Given the description of an element on the screen output the (x, y) to click on. 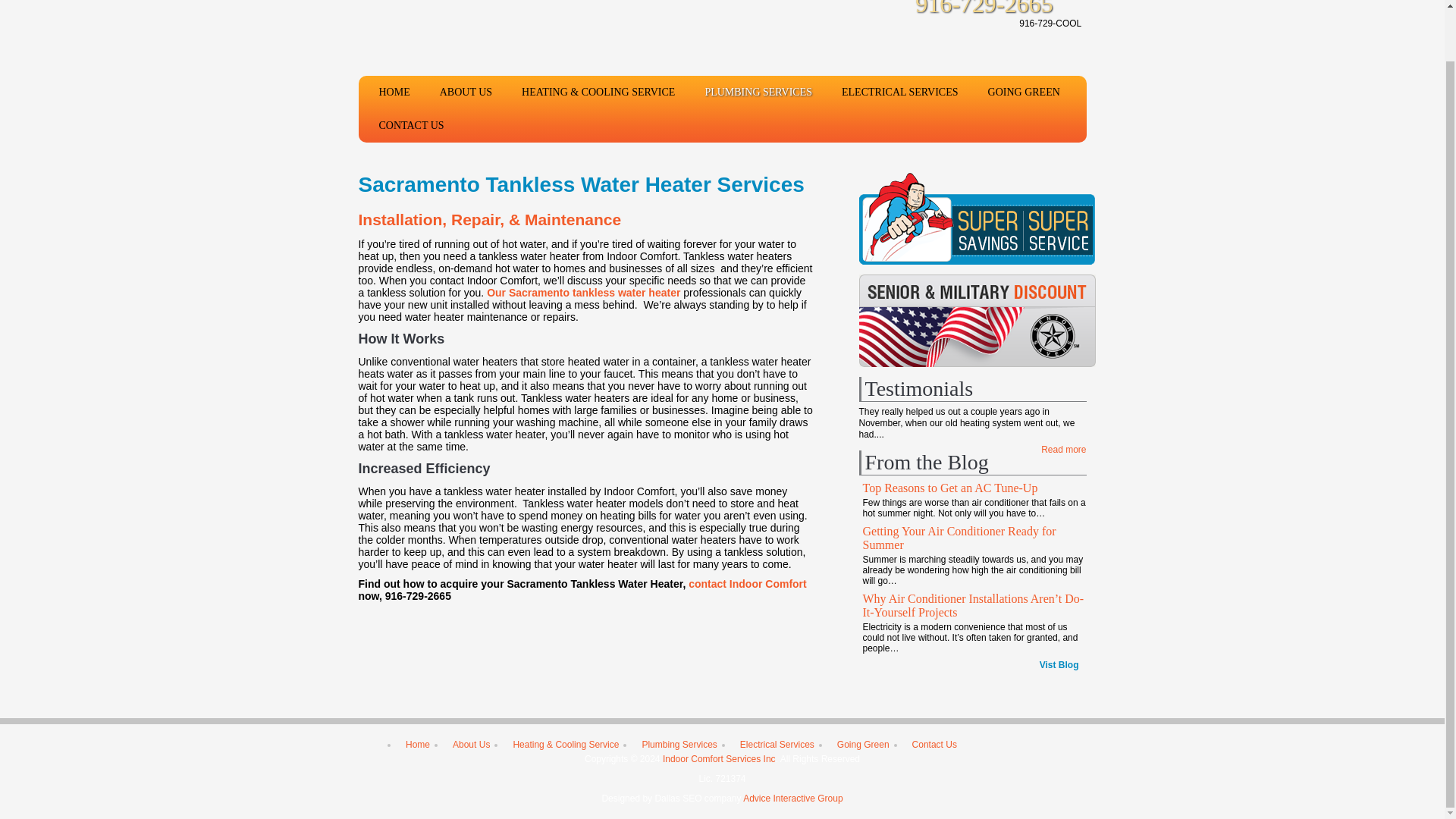
HOME (394, 92)
Contact us (747, 583)
About us (582, 292)
ABOUT US (465, 92)
916-729-2665 (972, 9)
CONTACT US (410, 125)
GOING GREEN (1023, 92)
PLUMBING SERVICES (758, 92)
ELECTRICAL SERVICES (900, 92)
